Given the description of an element on the screen output the (x, y) to click on. 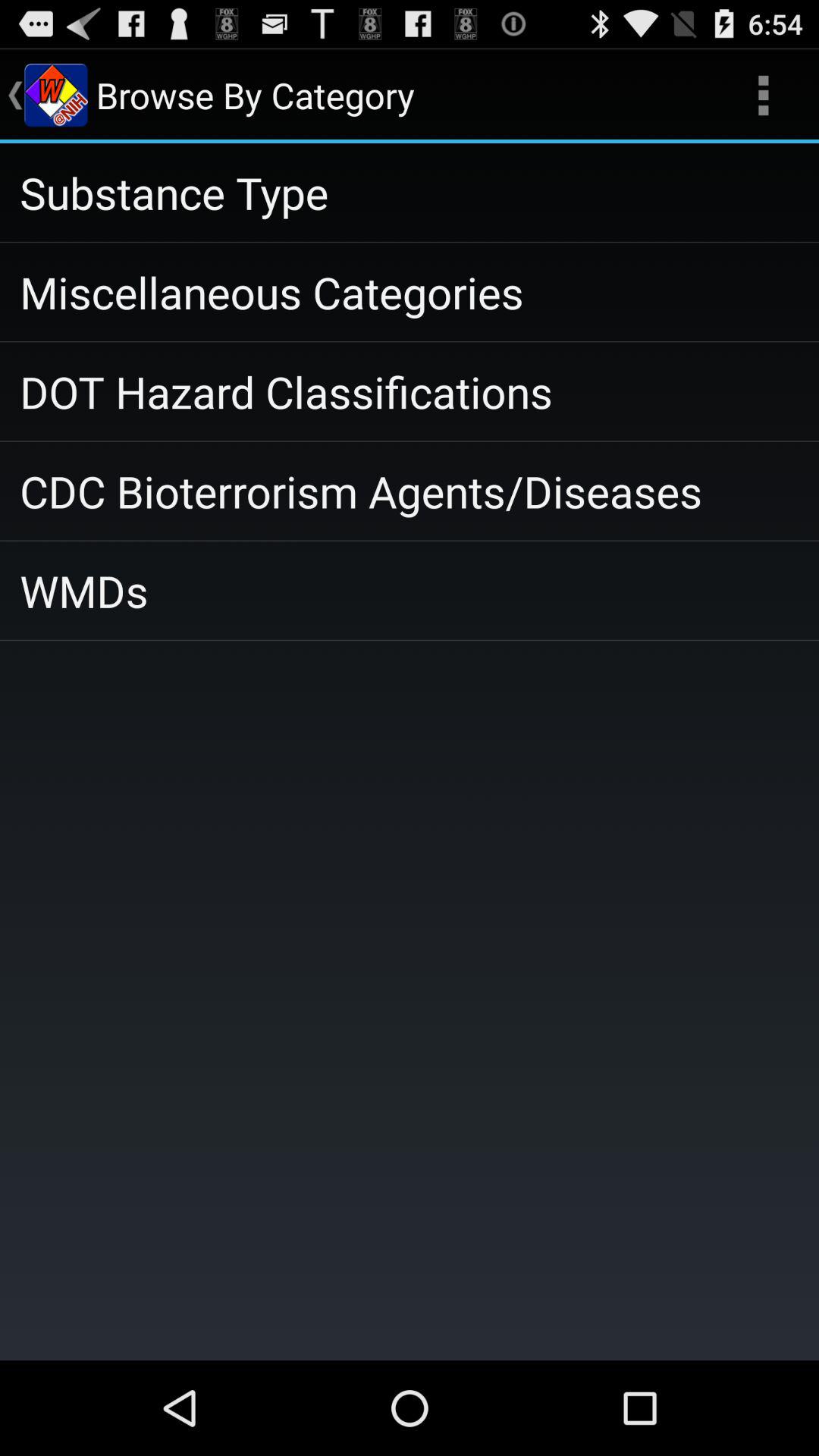
jump to the dot hazard classifications app (409, 391)
